Given the description of an element on the screen output the (x, y) to click on. 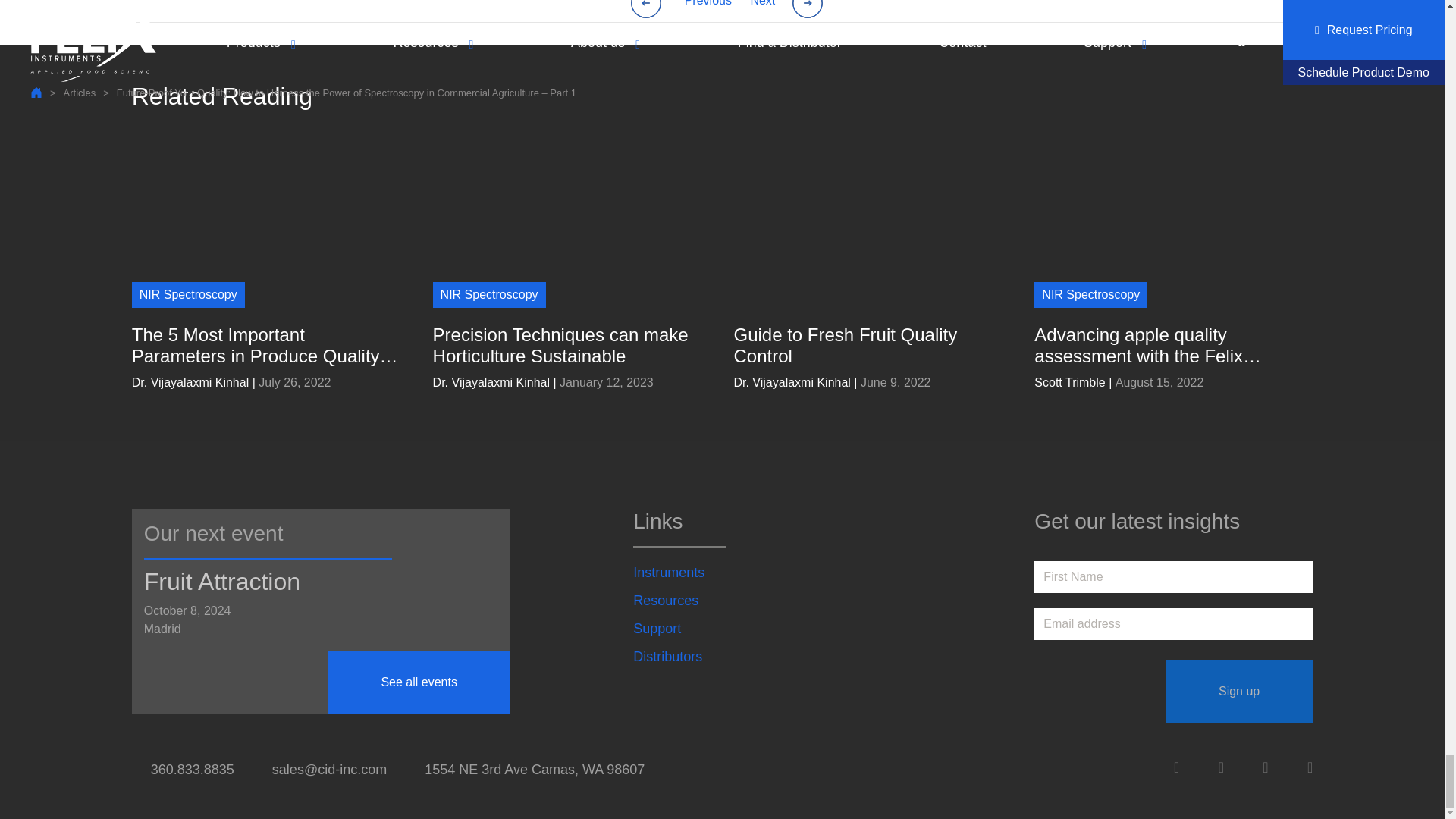
The 5 Most Important Parameters in Produce Quality Control (265, 345)
Guide to Fresh Fruit Quality Control (866, 345)
Sign up (1239, 691)
Precision Techniques can make Horticulture Sustainable (566, 345)
